Given the description of an element on the screen output the (x, y) to click on. 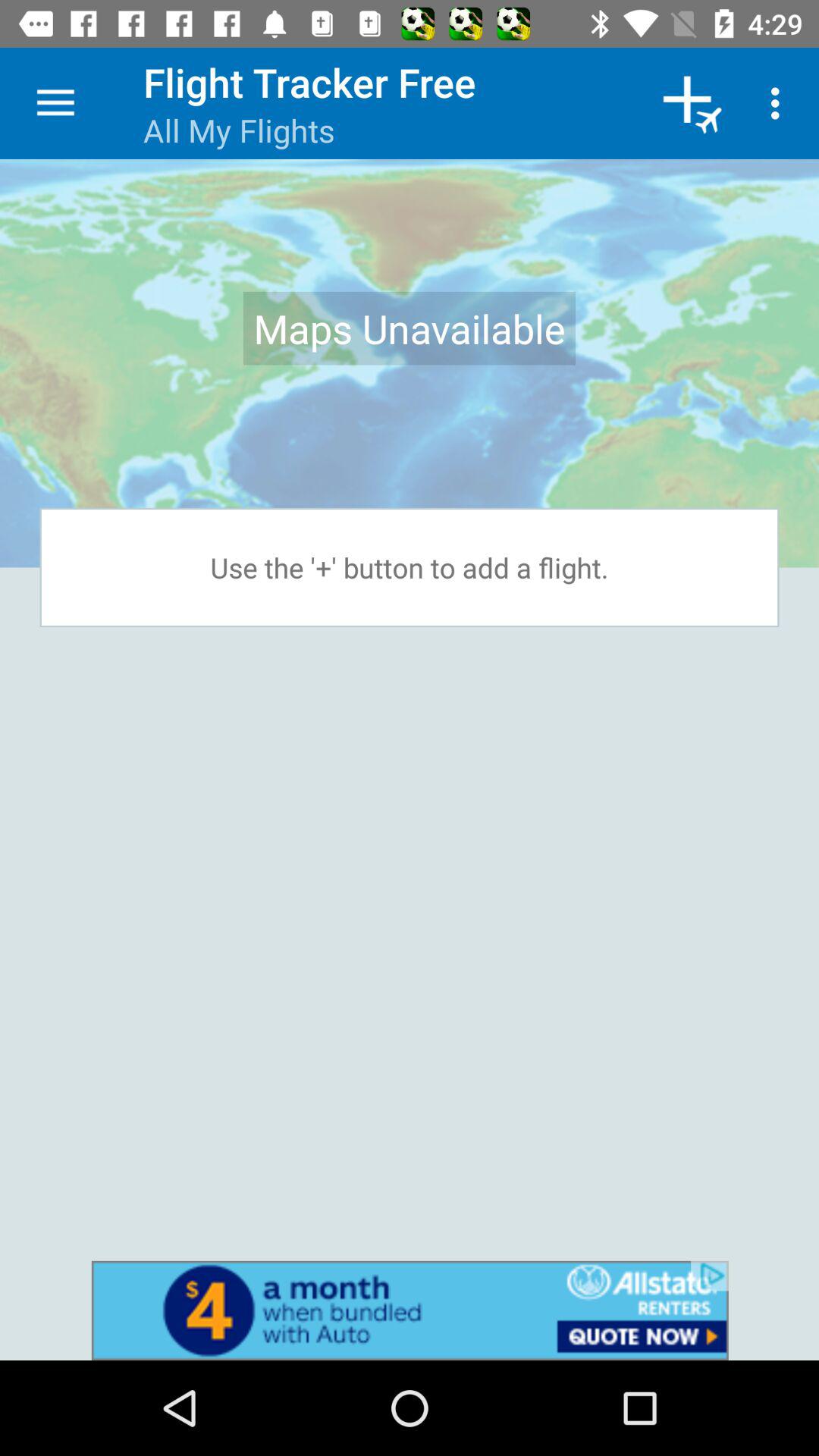
launch advertisement link (409, 1310)
